Given the description of an element on the screen output the (x, y) to click on. 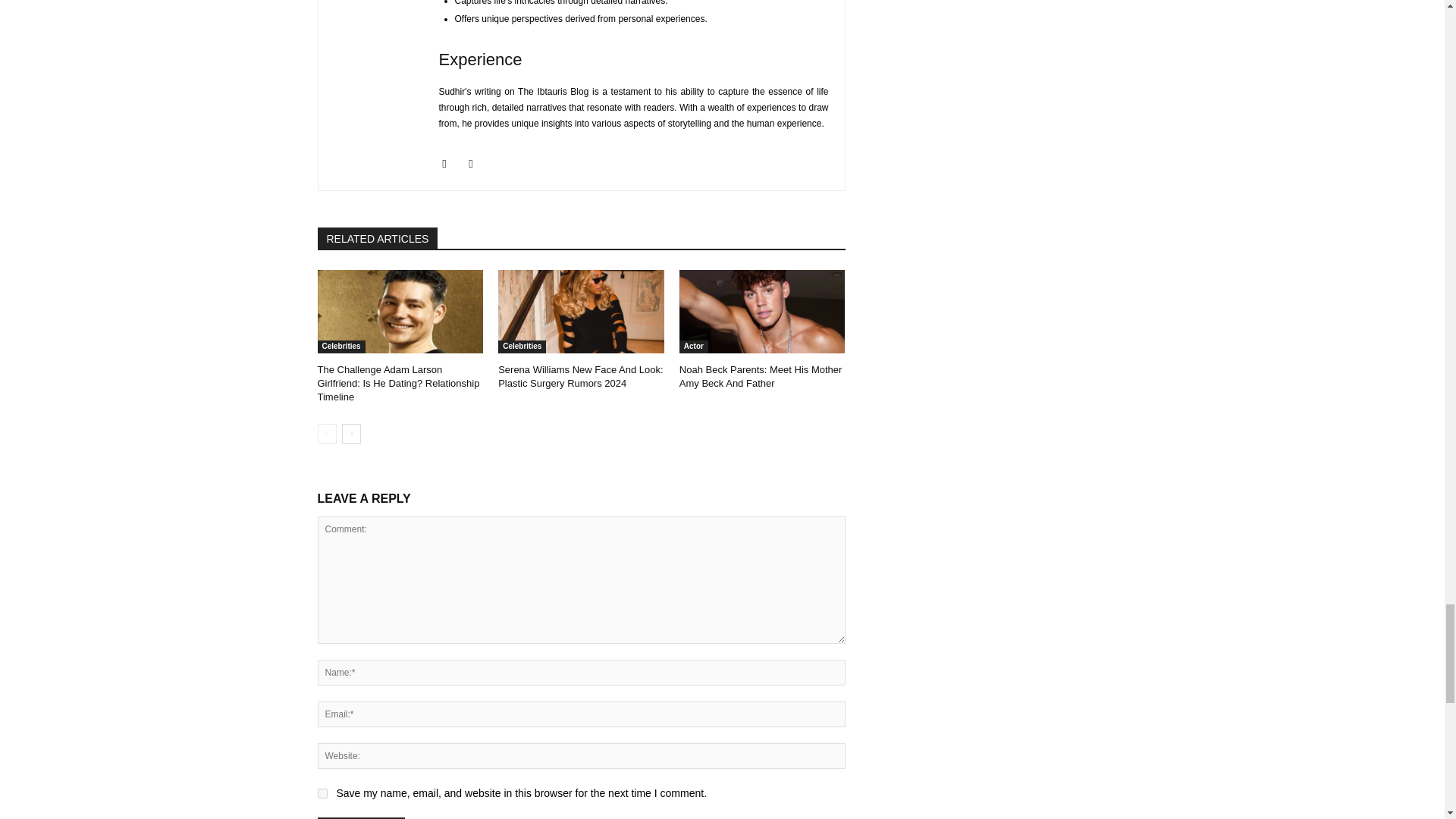
yes (321, 793)
Post Comment (360, 818)
